Given the description of an element on the screen output the (x, y) to click on. 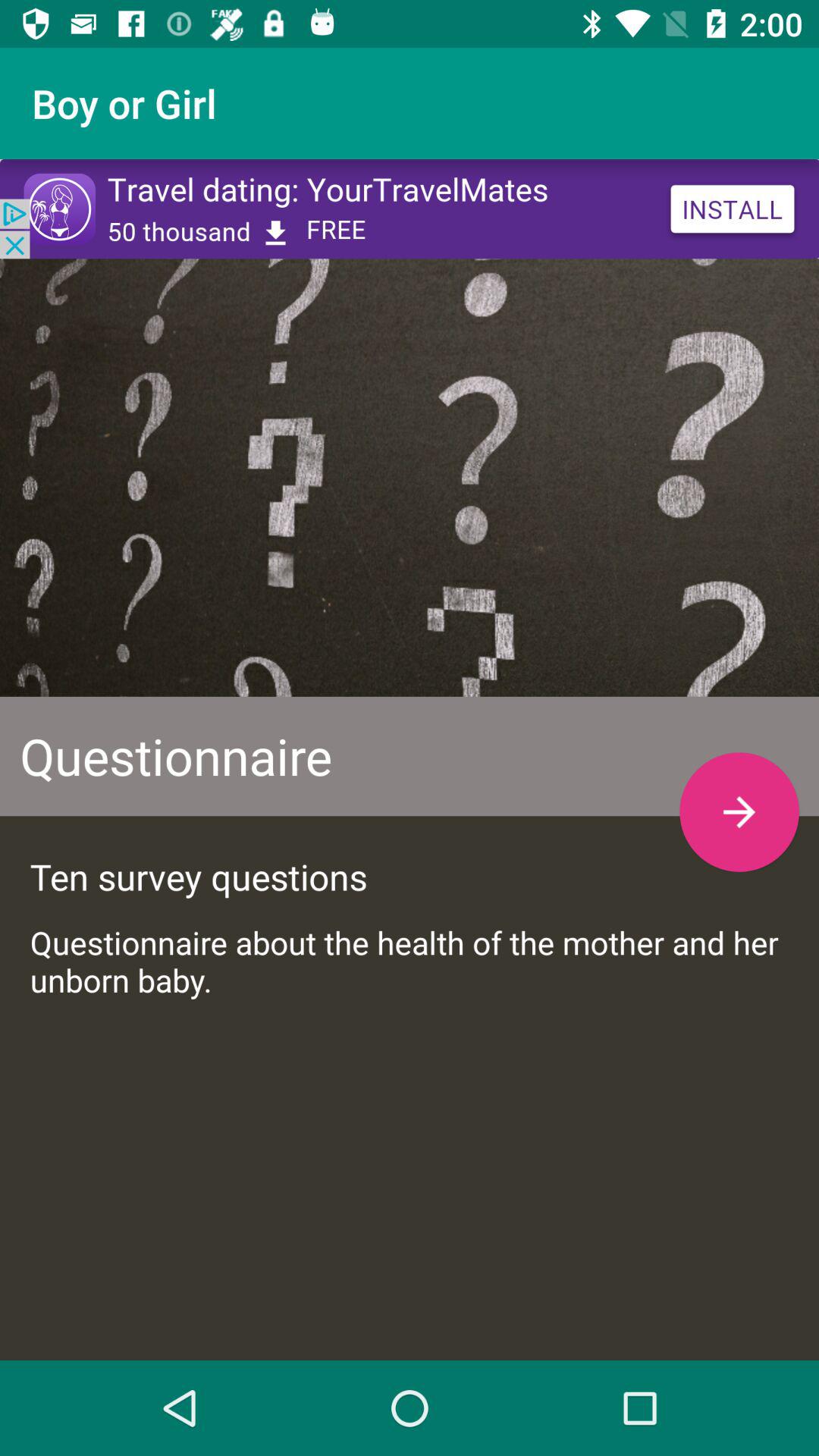
go to next page (739, 811)
